Given the description of an element on the screen output the (x, y) to click on. 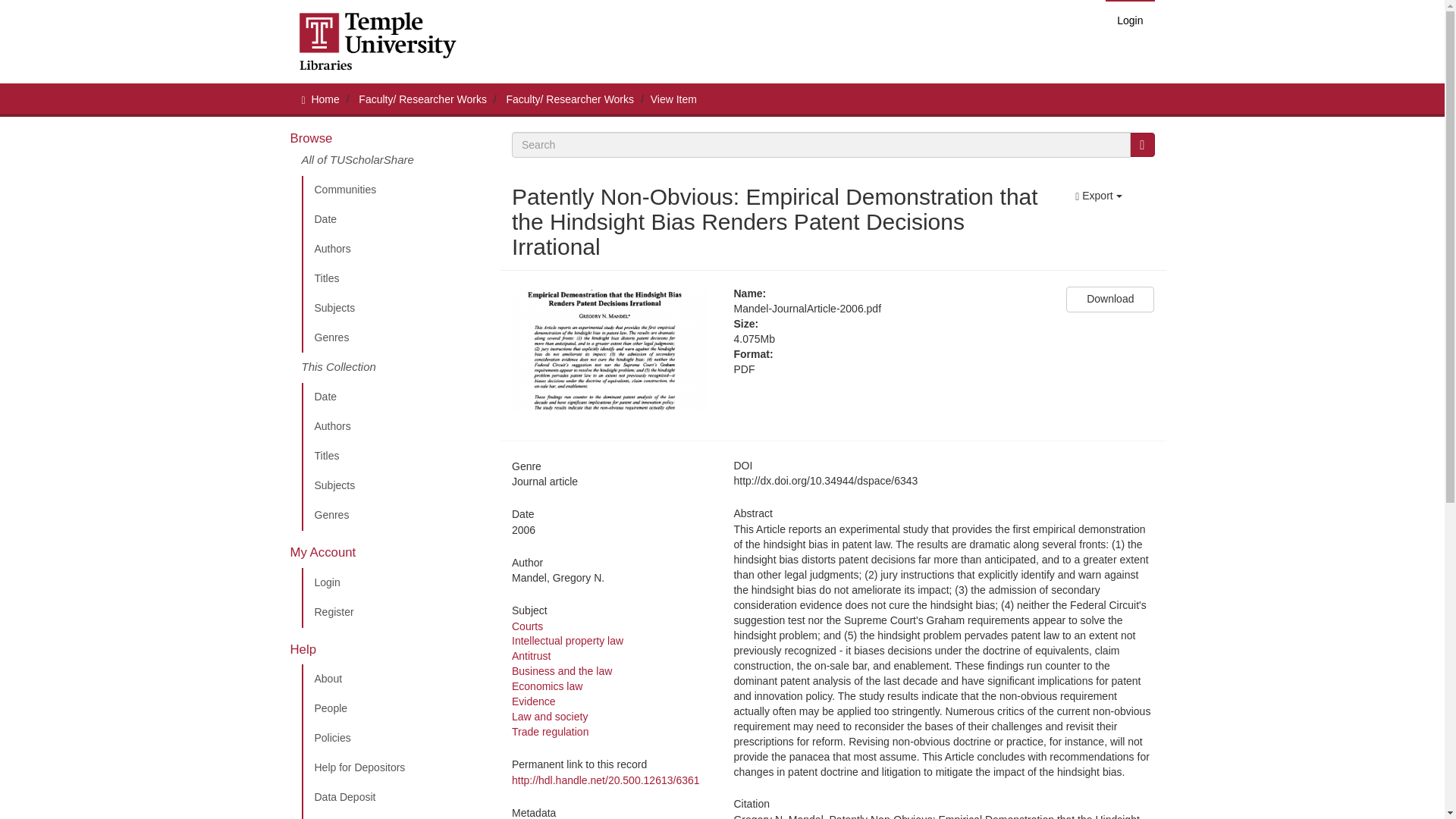
Export (1098, 196)
Date (395, 397)
Authors (395, 426)
Policies (395, 738)
Communities (395, 190)
This Collection (395, 367)
Titles (395, 278)
Subjects (395, 485)
Login (395, 583)
Titles (395, 456)
Mandel-JournalArticle-2006.pdf (888, 309)
All of TUScholarShare (395, 164)
Date (395, 219)
Authors (395, 249)
Genres (395, 337)
